Given the description of an element on the screen output the (x, y) to click on. 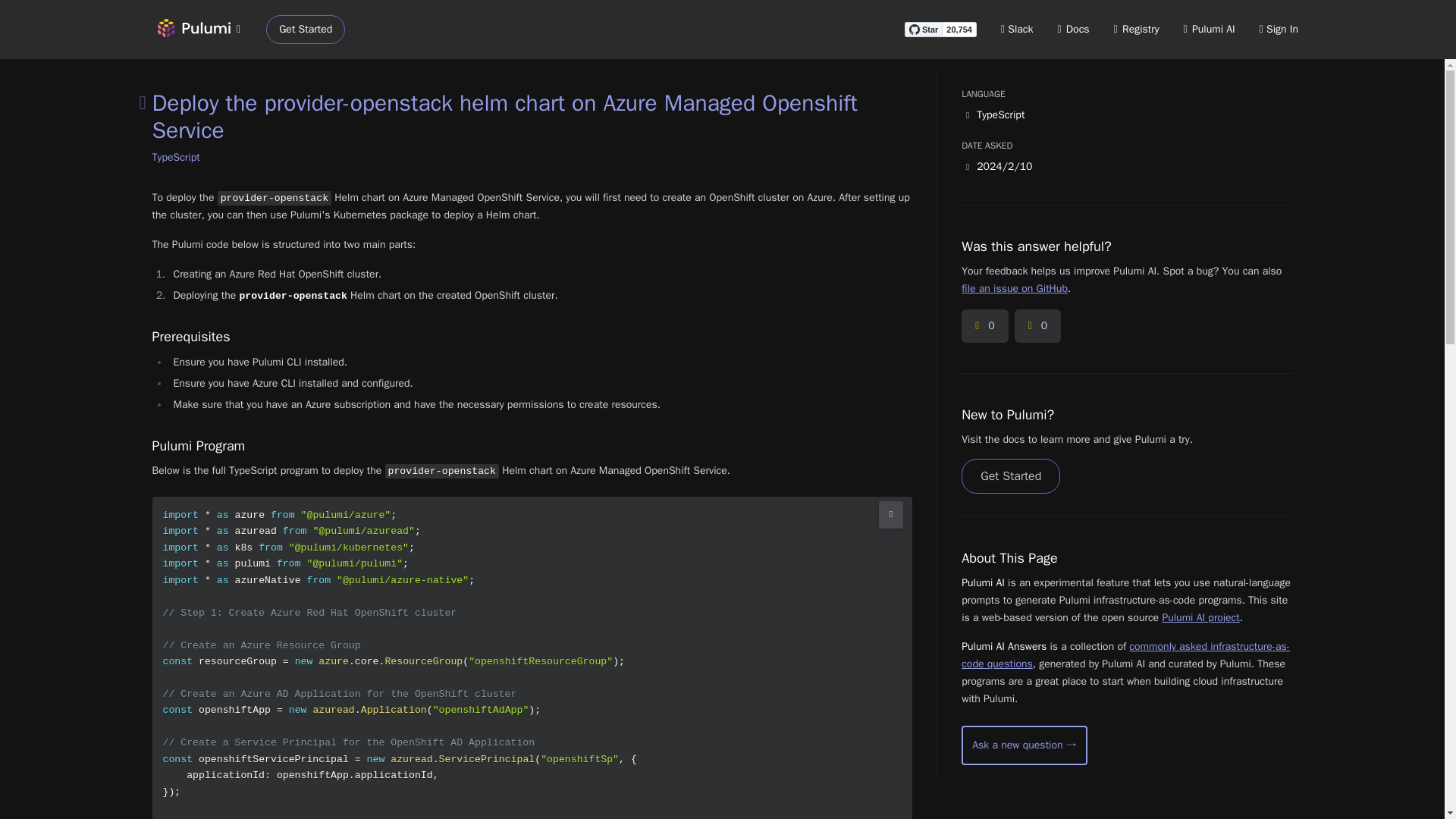
Sign In (1278, 29)
Get Started (305, 29)
0 (1037, 326)
Upvote this answer (984, 326)
20,754 (959, 29)
 Star (923, 29)
0 (984, 326)
Docs (1073, 29)
file an issue on GitHub (1013, 287)
Slack (1017, 29)
